Given the description of an element on the screen output the (x, y) to click on. 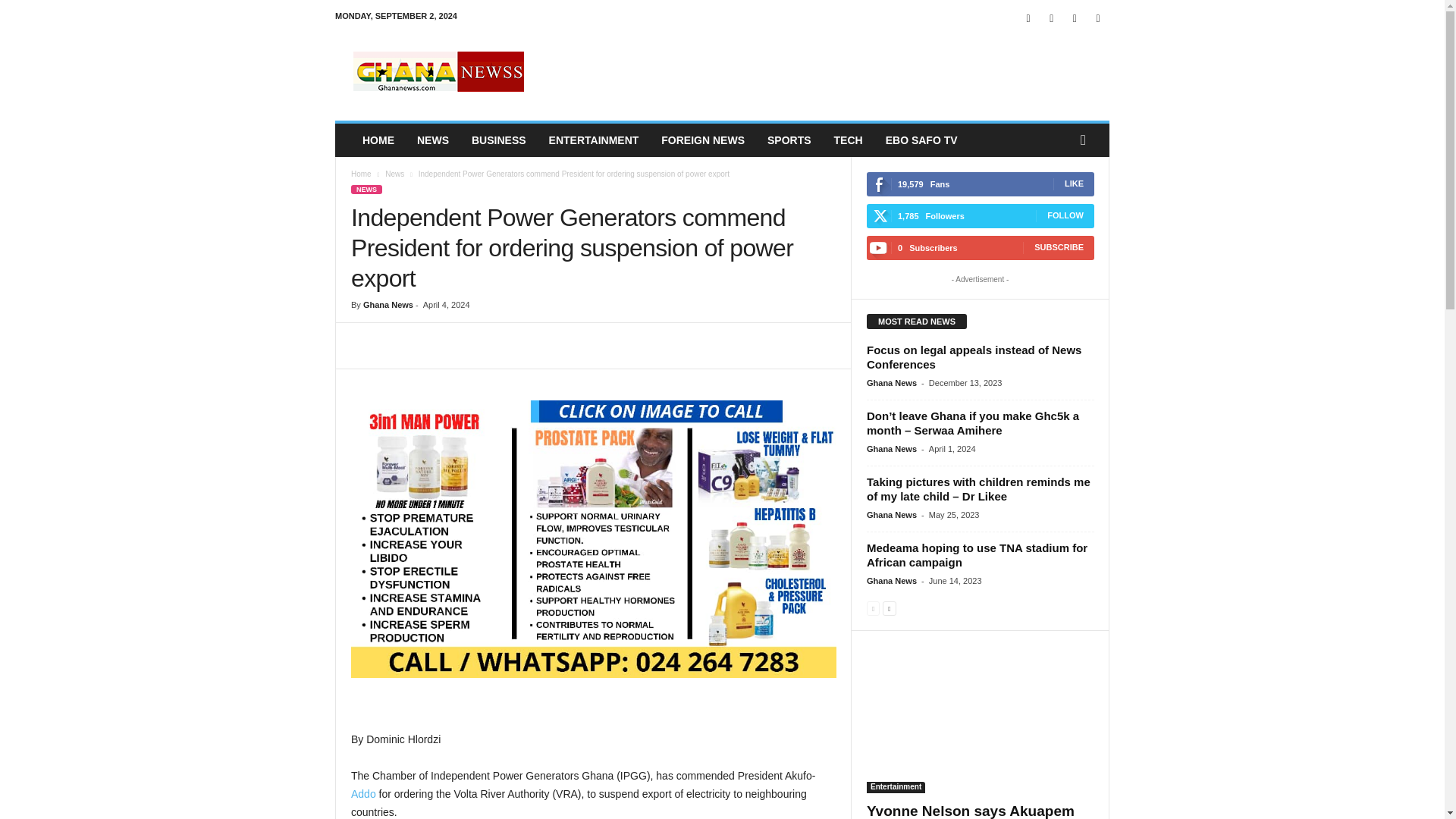
TECH (848, 140)
HOME (378, 140)
EBO SAFO TV (922, 140)
ENTERTAINMENT (593, 140)
BUSINESS (498, 140)
View all posts in News (394, 173)
NEWS (365, 189)
SPORTS (788, 140)
Ghana Latest News (437, 70)
Home (360, 173)
